Given the description of an element on the screen output the (x, y) to click on. 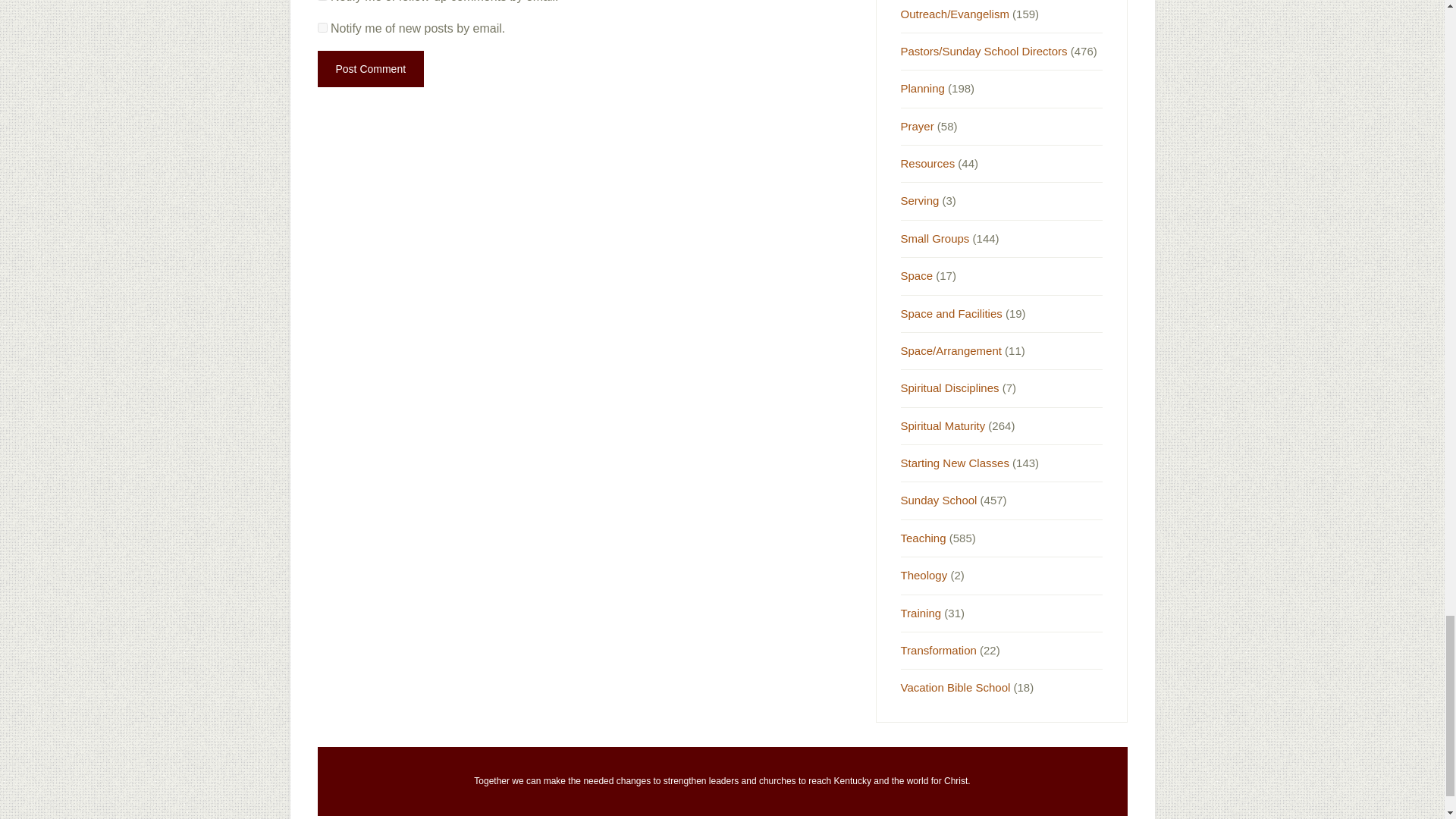
subscribe (321, 27)
Post Comment (370, 68)
Post Comment (370, 68)
